Given the description of an element on the screen output the (x, y) to click on. 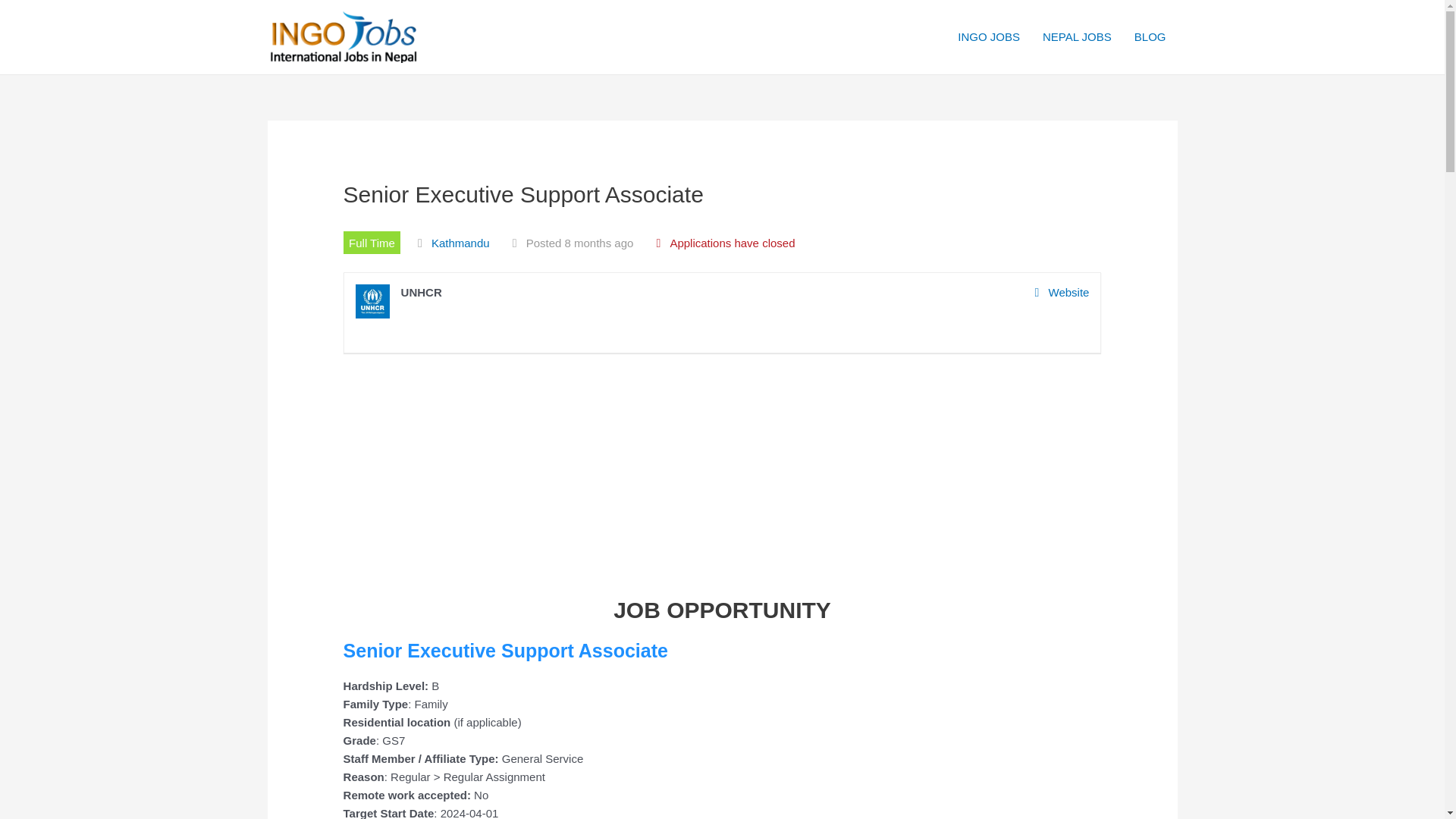
INGO JOBS (988, 36)
Website (1062, 293)
Kathmandu (459, 242)
NEPAL JOBS (1076, 36)
BLOG (1149, 36)
